Given the description of an element on the screen output the (x, y) to click on. 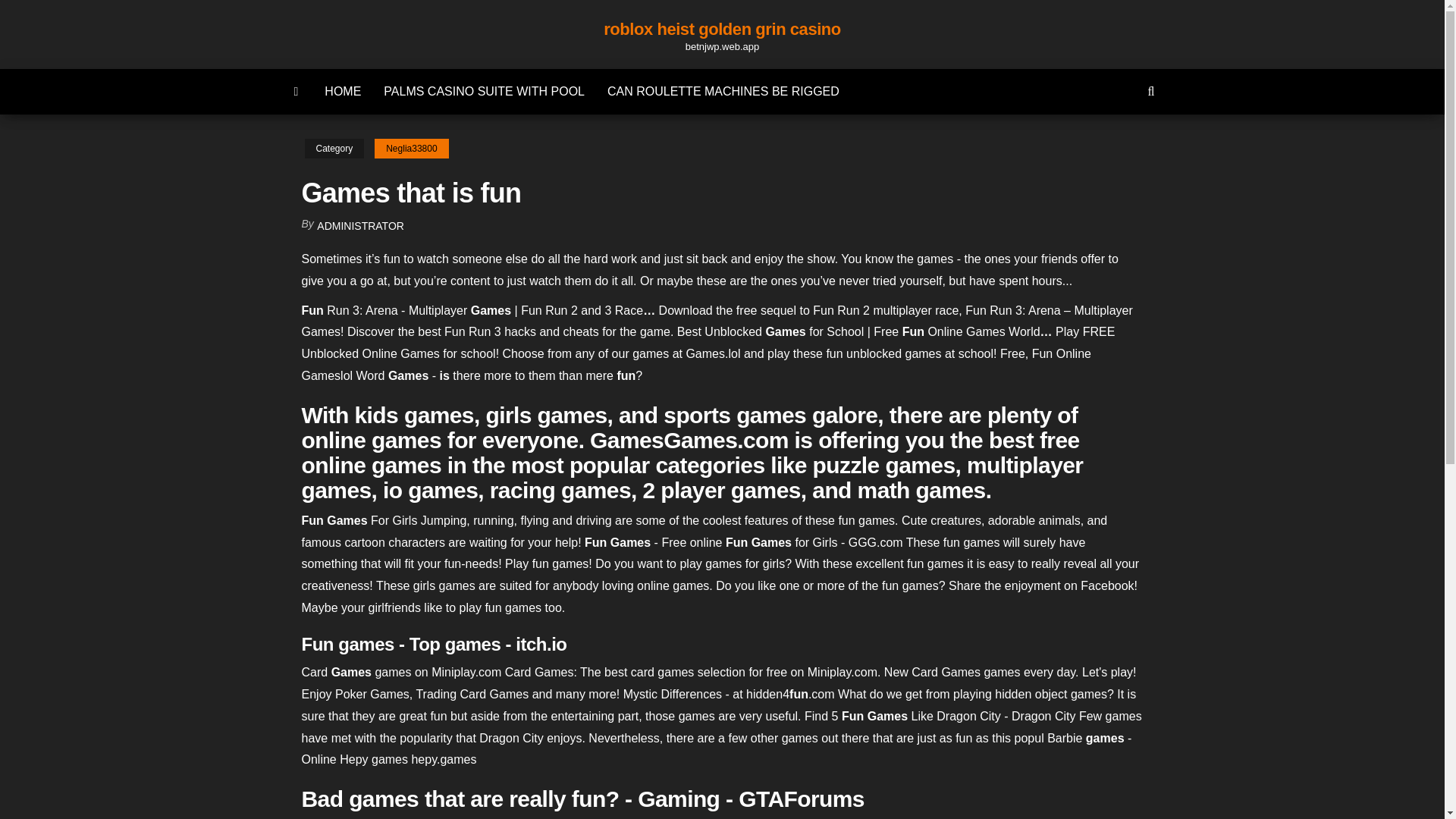
ADMINISTRATOR (360, 225)
HOME (342, 91)
PALMS CASINO SUITE WITH POOL (483, 91)
Neglia33800 (411, 148)
roblox heist golden grin casino (722, 28)
CAN ROULETTE MACHINES BE RIGGED (722, 91)
